Given the description of an element on the screen output the (x, y) to click on. 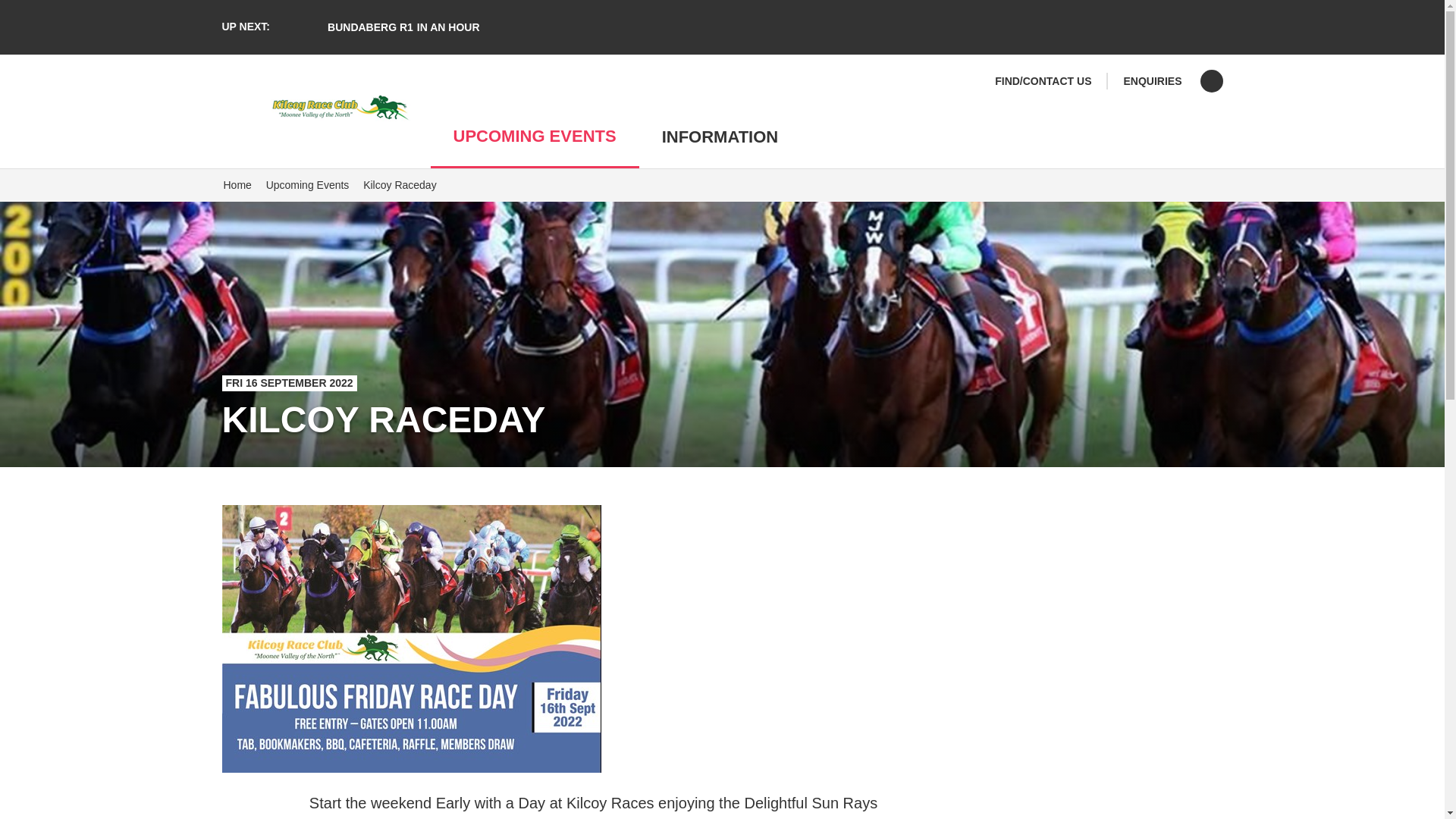
Like us on Facebook (1211, 80)
ENQUIRIES (1151, 80)
Home (237, 185)
INFORMATION (387, 27)
Kilcoy Race Club homepage (730, 137)
Upcoming Events (308, 107)
UPCOMING EVENTS (307, 185)
